Given the description of an element on the screen output the (x, y) to click on. 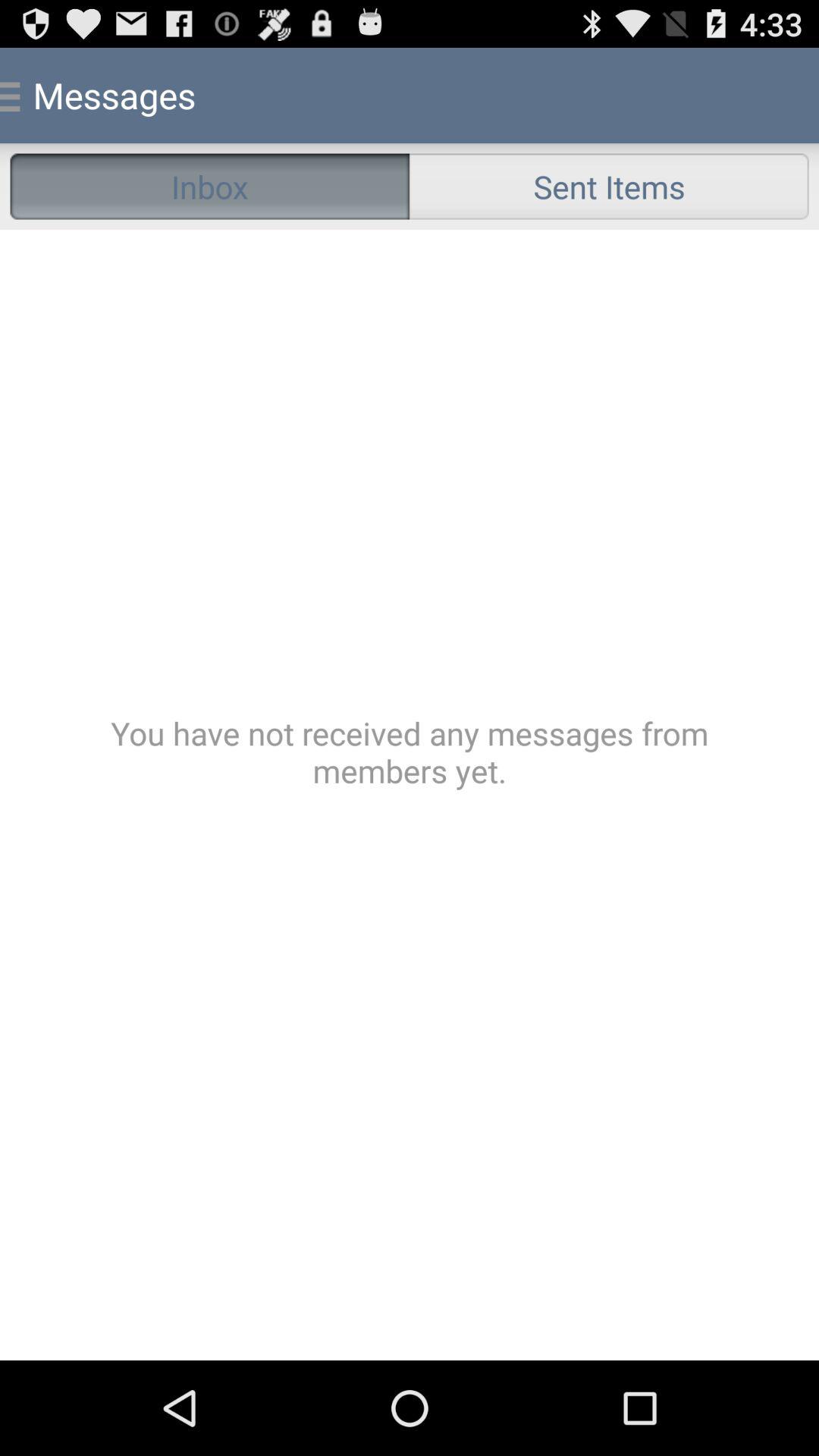
click the item below the inbox radio button (409, 794)
